Given the description of an element on the screen output the (x, y) to click on. 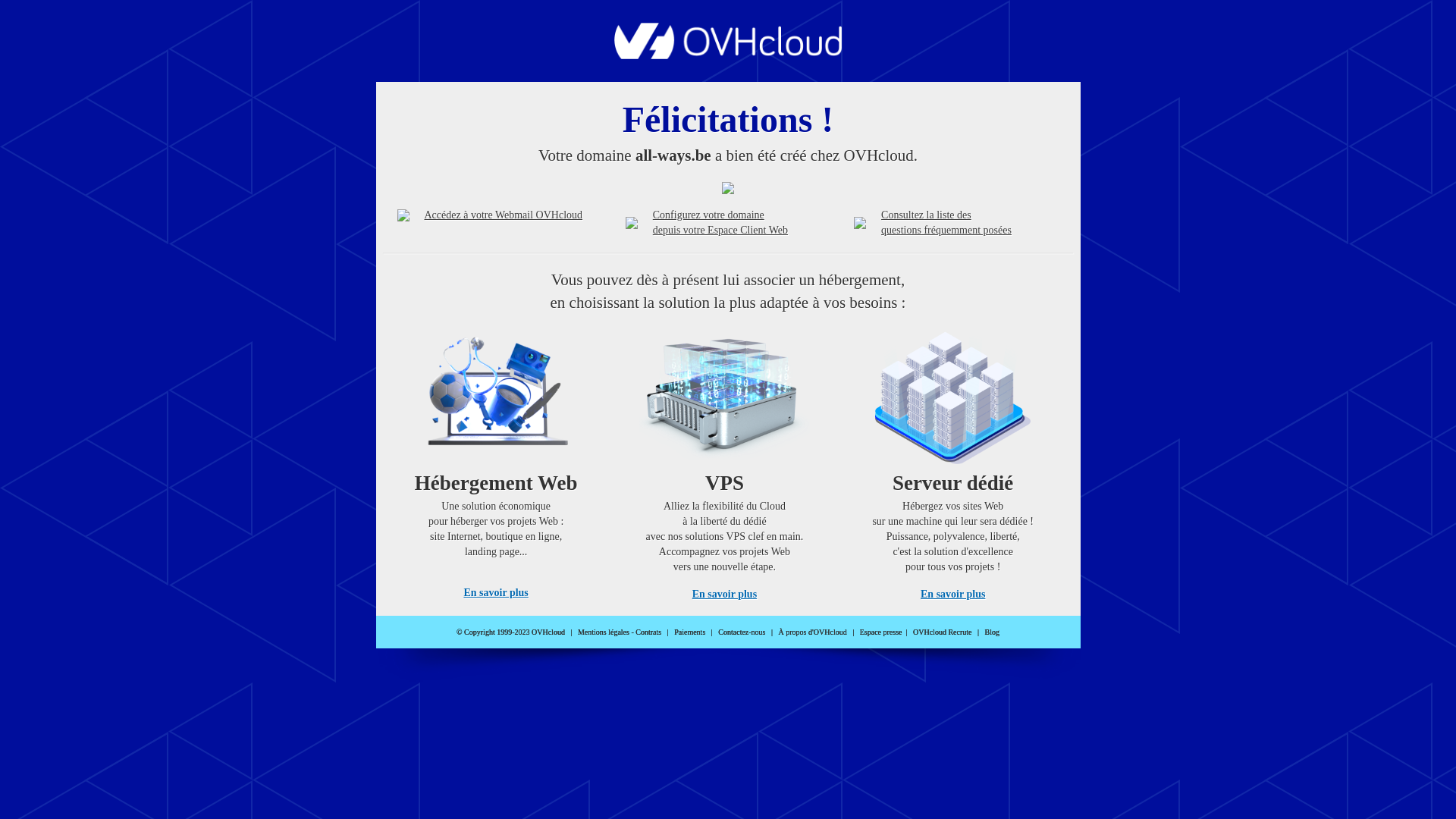
En savoir plus Element type: text (952, 593)
Blog Element type: text (992, 631)
Espace presse Element type: text (880, 631)
En savoir plus Element type: text (495, 592)
OVHcloud Element type: hover (727, 54)
Paiements Element type: text (689, 631)
OVHcloud Recrute Element type: text (942, 631)
En savoir plus Element type: text (724, 593)
Contactez-nous Element type: text (741, 631)
Configurez votre domaine
depuis votre Espace Client Web Element type: text (719, 222)
VPS Element type: hover (724, 460)
